Given the description of an element on the screen output the (x, y) to click on. 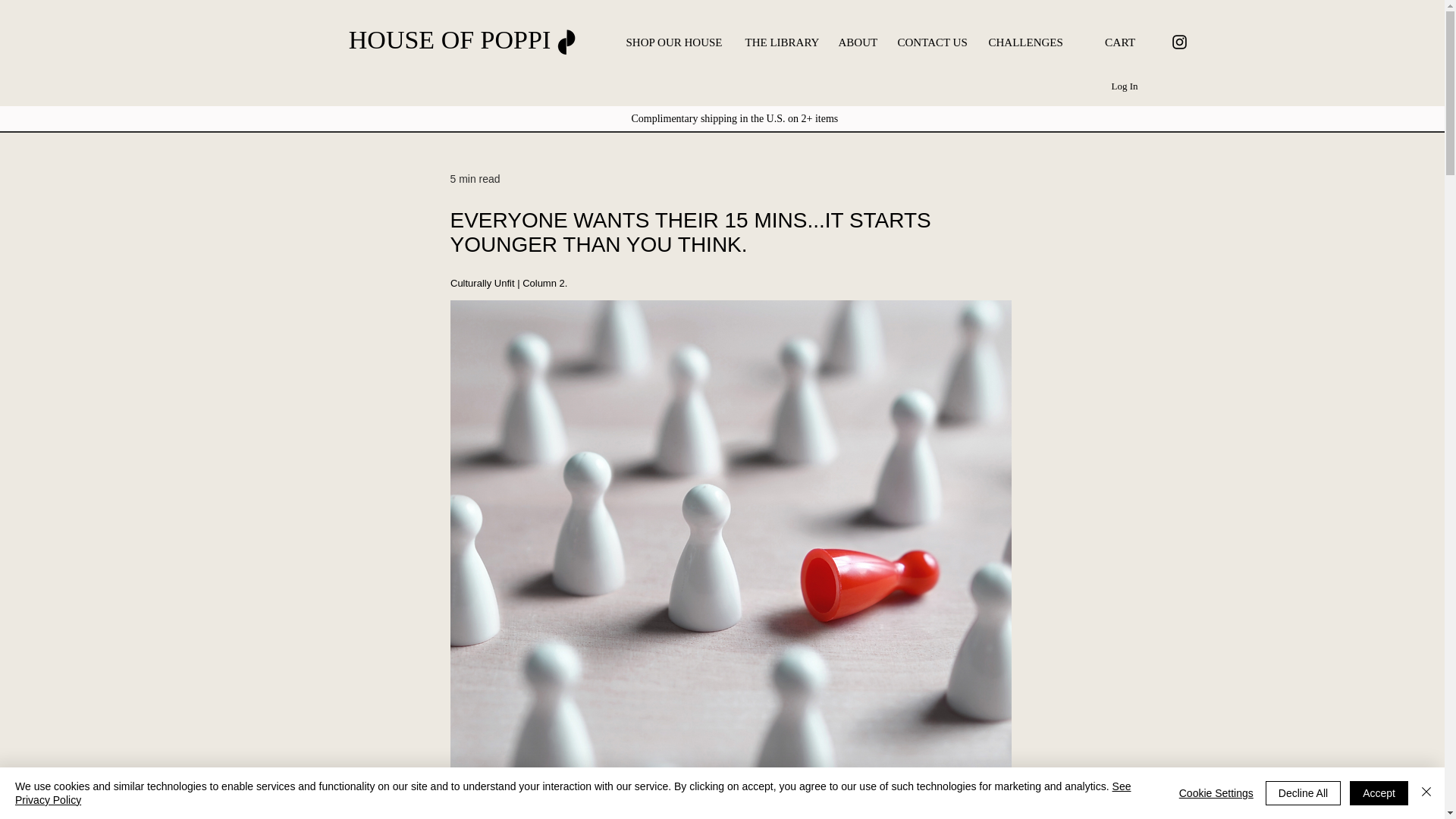
SHOP OUR HOUSE (673, 42)
Poppi's Principles (882, 78)
THE LIBRARY (780, 42)
CONTACT US (930, 42)
ABOUT (856, 42)
CART (1125, 42)
All Posts (384, 78)
Skin Health (678, 78)
CHALLENGES (1023, 42)
Accept (1378, 793)
